Given the description of an element on the screen output the (x, y) to click on. 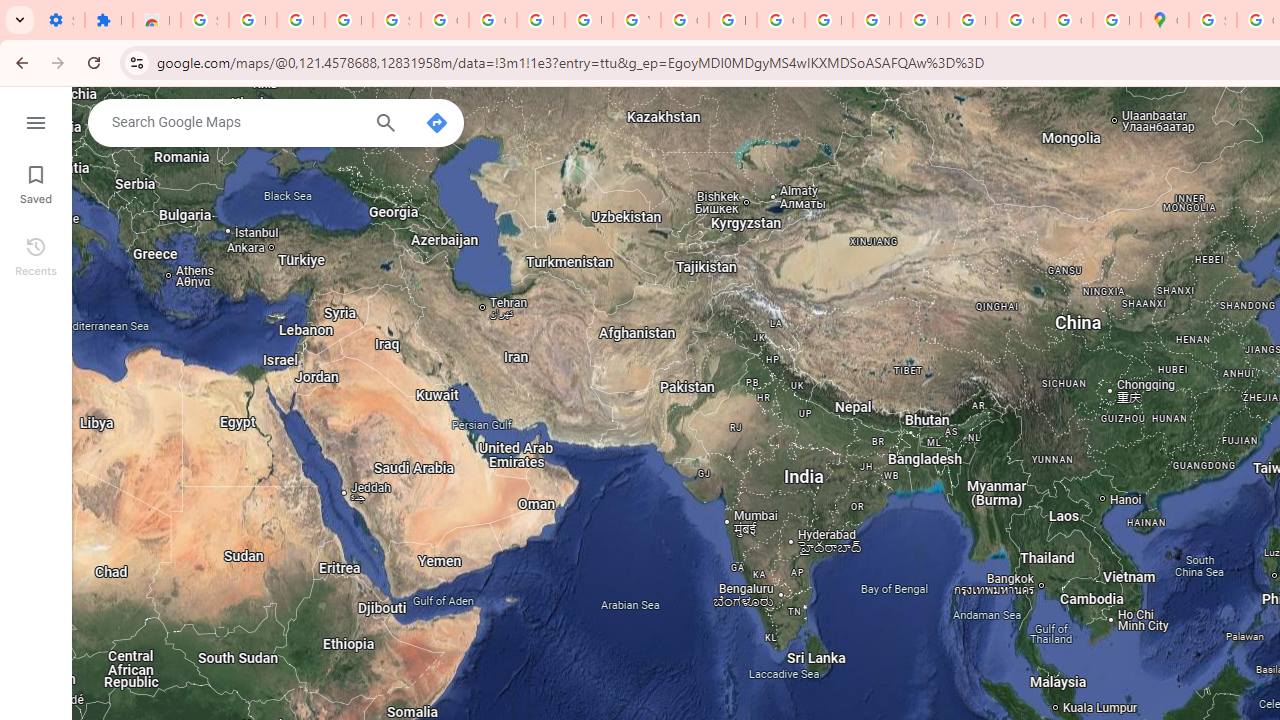
Delete photos & videos - Computer - Google Photos Help (252, 20)
Menu (35, 120)
Reload (93, 62)
Recents (35, 254)
Settings - On startup (60, 20)
Search Google Maps (235, 121)
Search tabs (20, 20)
Sign in - Google Accounts (1212, 20)
